Given the description of an element on the screen output the (x, y) to click on. 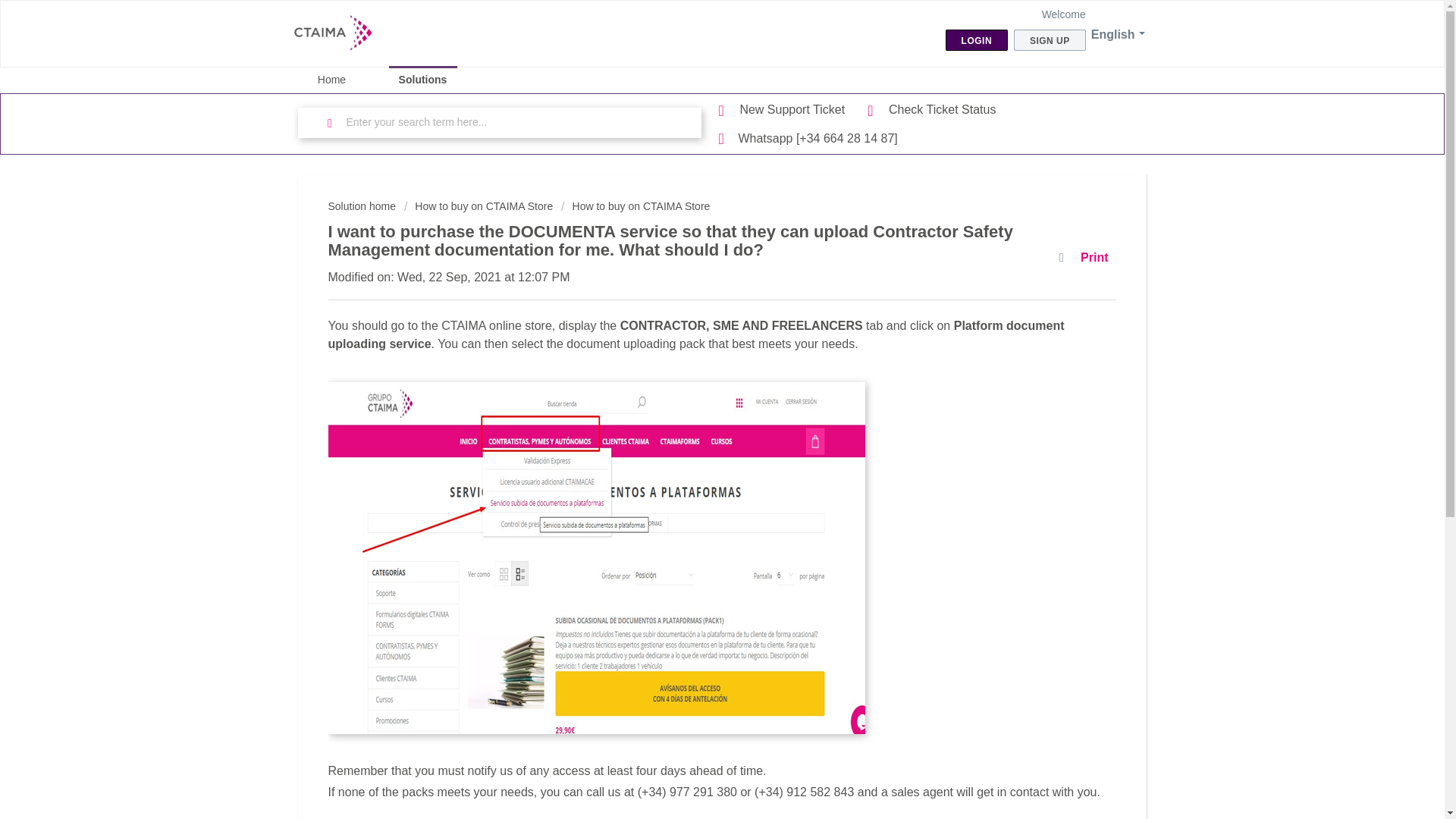
Print (1087, 257)
Solution home (362, 205)
Chat (1406, 779)
Check ticket status (931, 109)
How to buy on CTAIMA Store (635, 205)
Check Ticket Status (931, 109)
LOGIN (976, 39)
New support ticket (782, 109)
Home (331, 79)
Print this Article (1087, 257)
Solutions (422, 79)
How to buy on CTAIMA Store (478, 205)
SIGN UP (1049, 39)
New Support Ticket (782, 109)
